Given the description of an element on the screen output the (x, y) to click on. 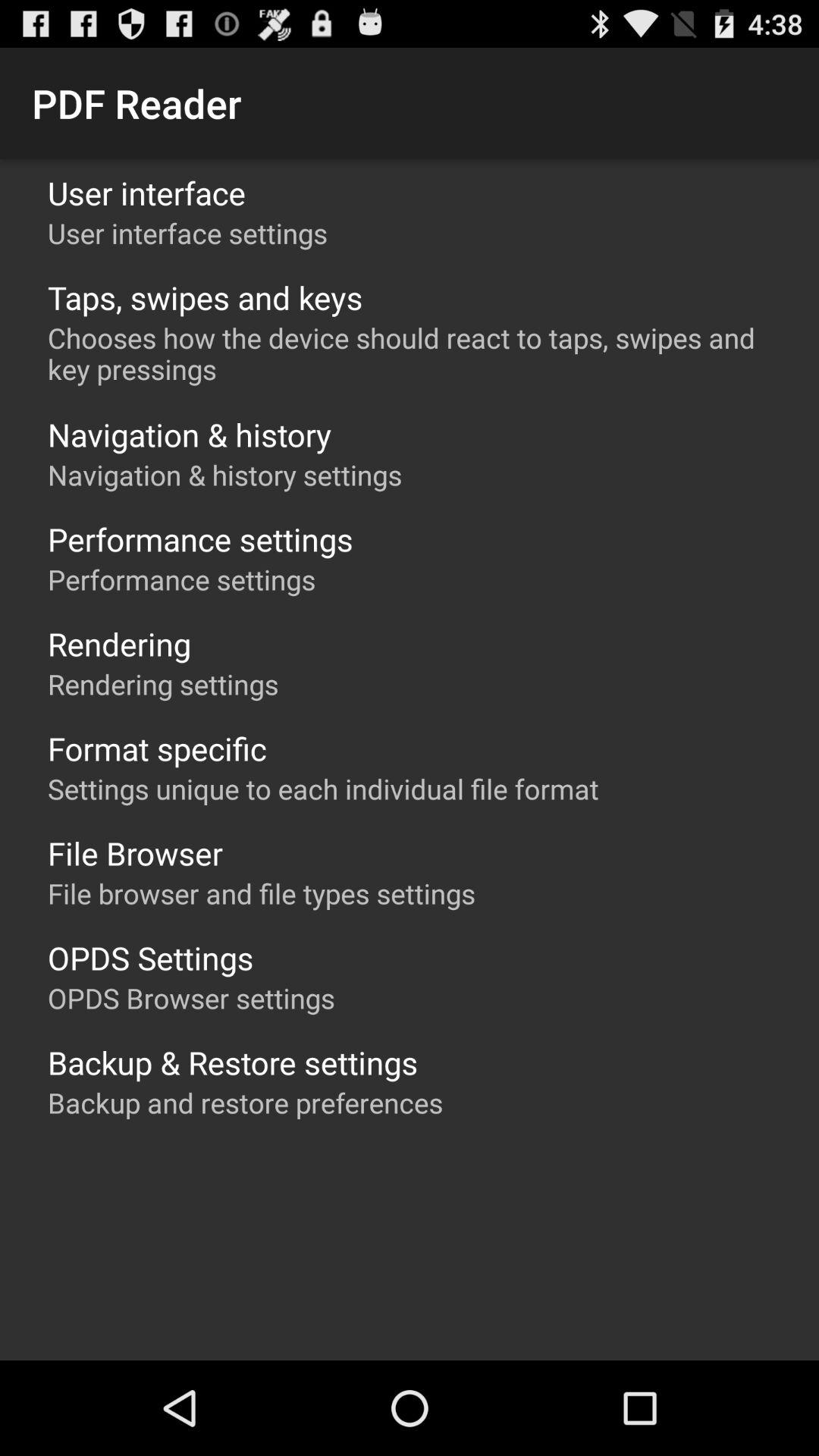
launch the rendering settings (162, 683)
